Given the description of an element on the screen output the (x, y) to click on. 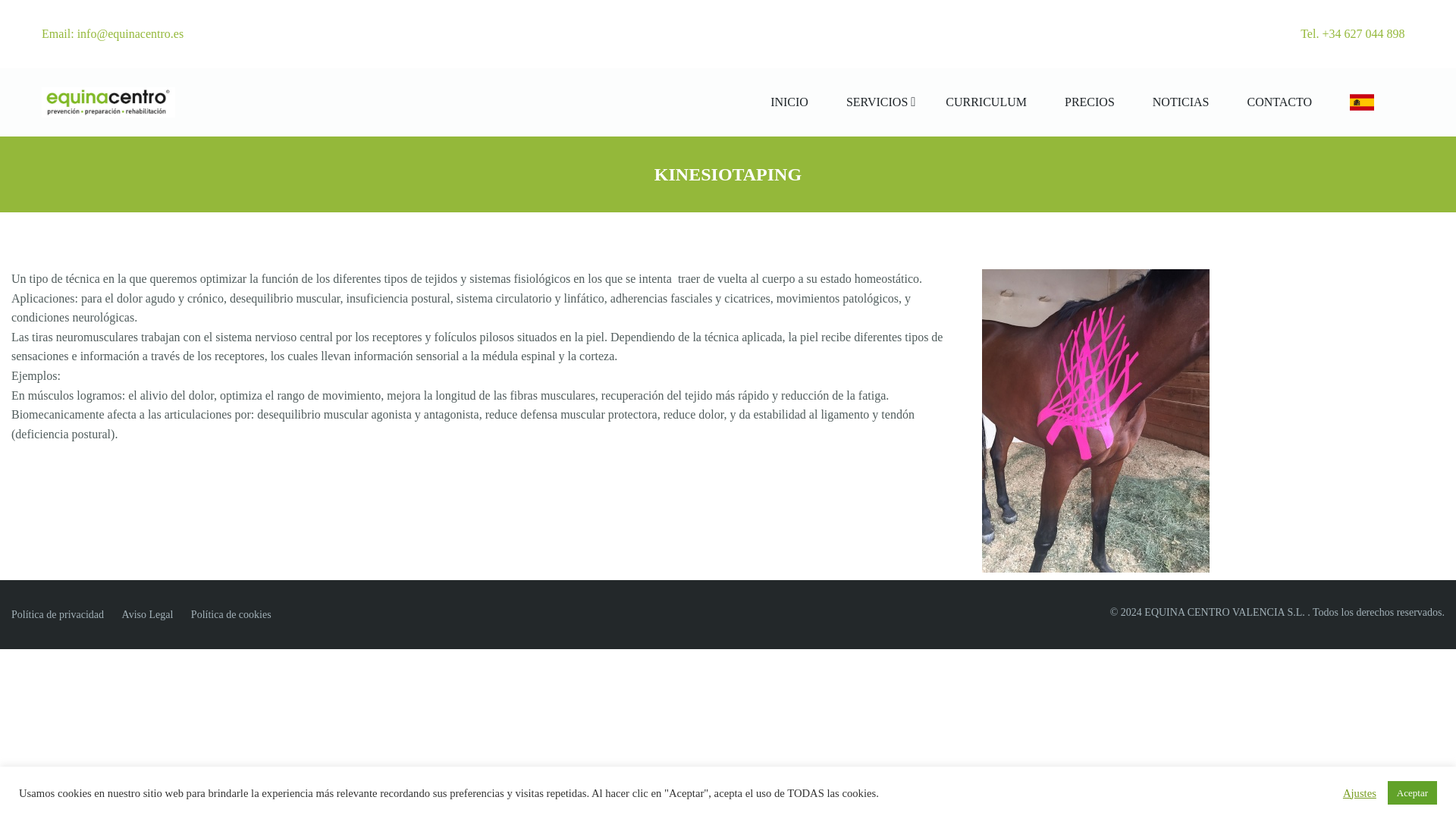
Aviso Legal (147, 614)
CURRICULUM (986, 102)
PRECIOS (1089, 102)
INICIO (789, 102)
NOTICIAS (1180, 102)
CONTACTO (1279, 102)
SERVICIOS (877, 102)
